Given the description of an element on the screen output the (x, y) to click on. 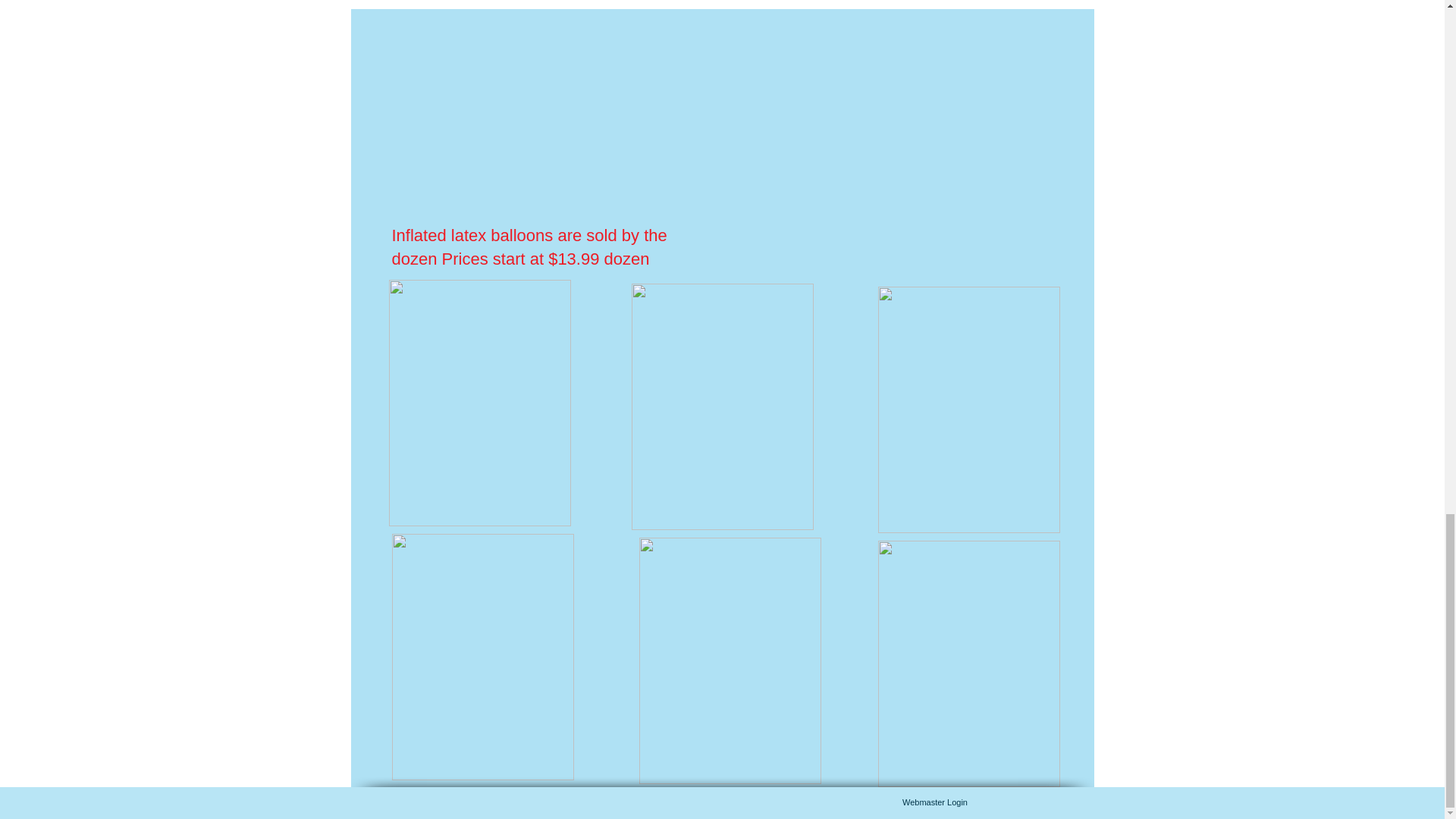
Webmaster Login (933, 802)
